Given the description of an element on the screen output the (x, y) to click on. 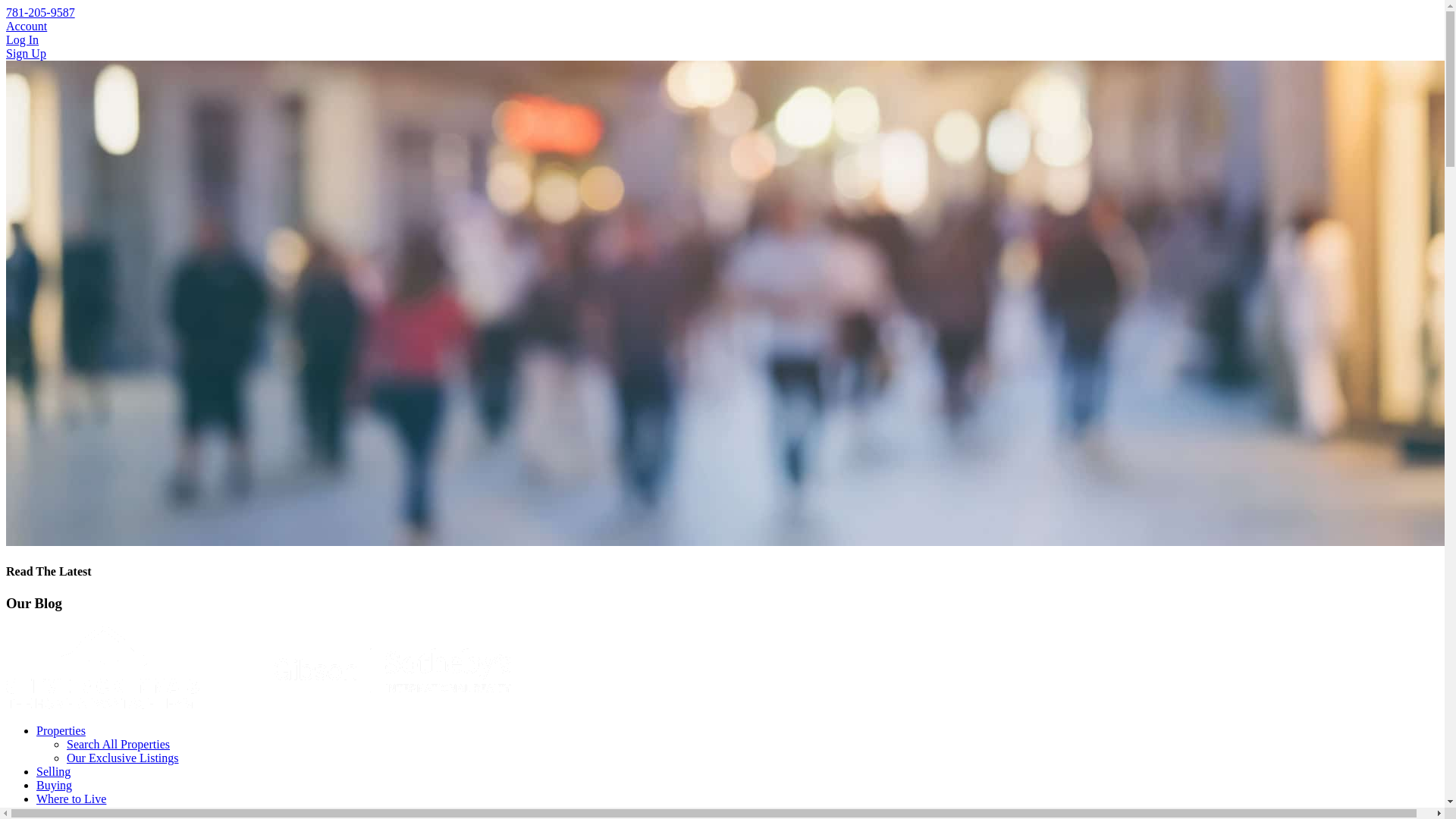
Properties (60, 730)
Log In (22, 39)
Buying (53, 784)
781-205-9587 (40, 11)
Sign Up (25, 52)
Search All Properties (118, 744)
Where to Live (71, 798)
Selling (52, 771)
Our Exclusive Listings (122, 757)
Account (25, 25)
Arlington (89, 812)
